Given the description of an element on the screen output the (x, y) to click on. 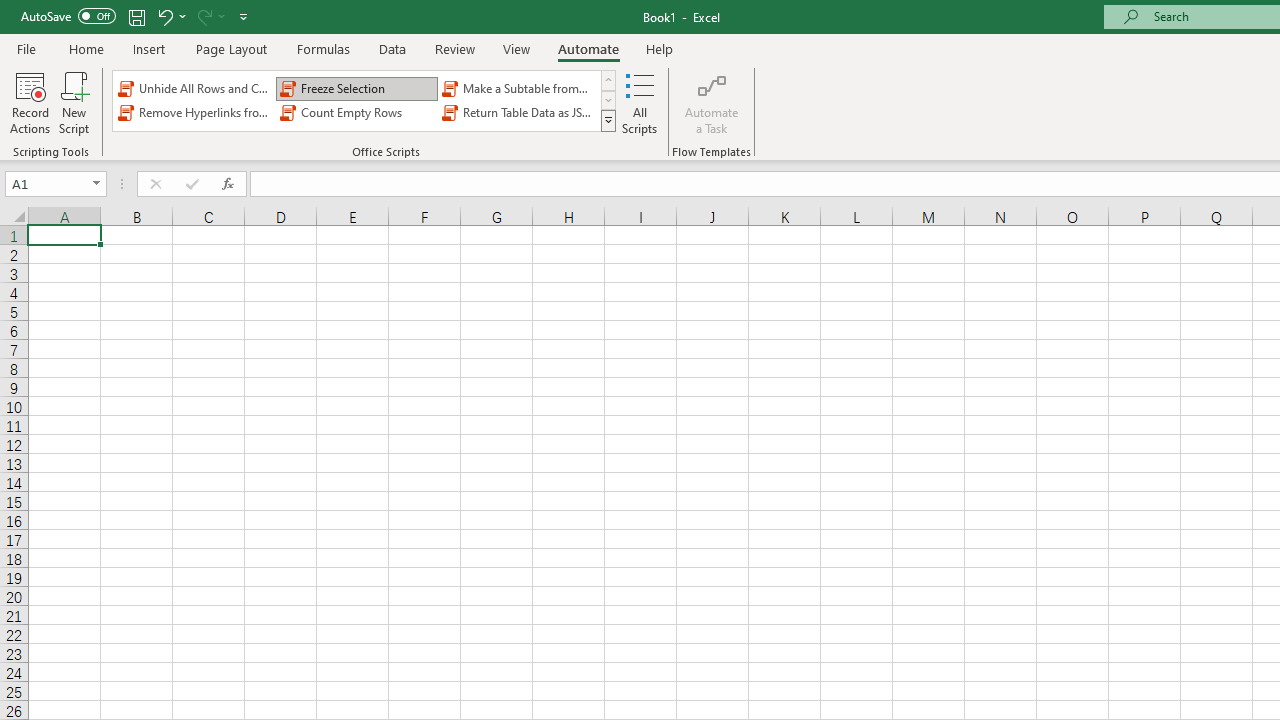
Record Actions (29, 102)
Class: NetUIImage (609, 120)
Remove Hyperlinks from Sheet (194, 112)
